Given the description of an element on the screen output the (x, y) to click on. 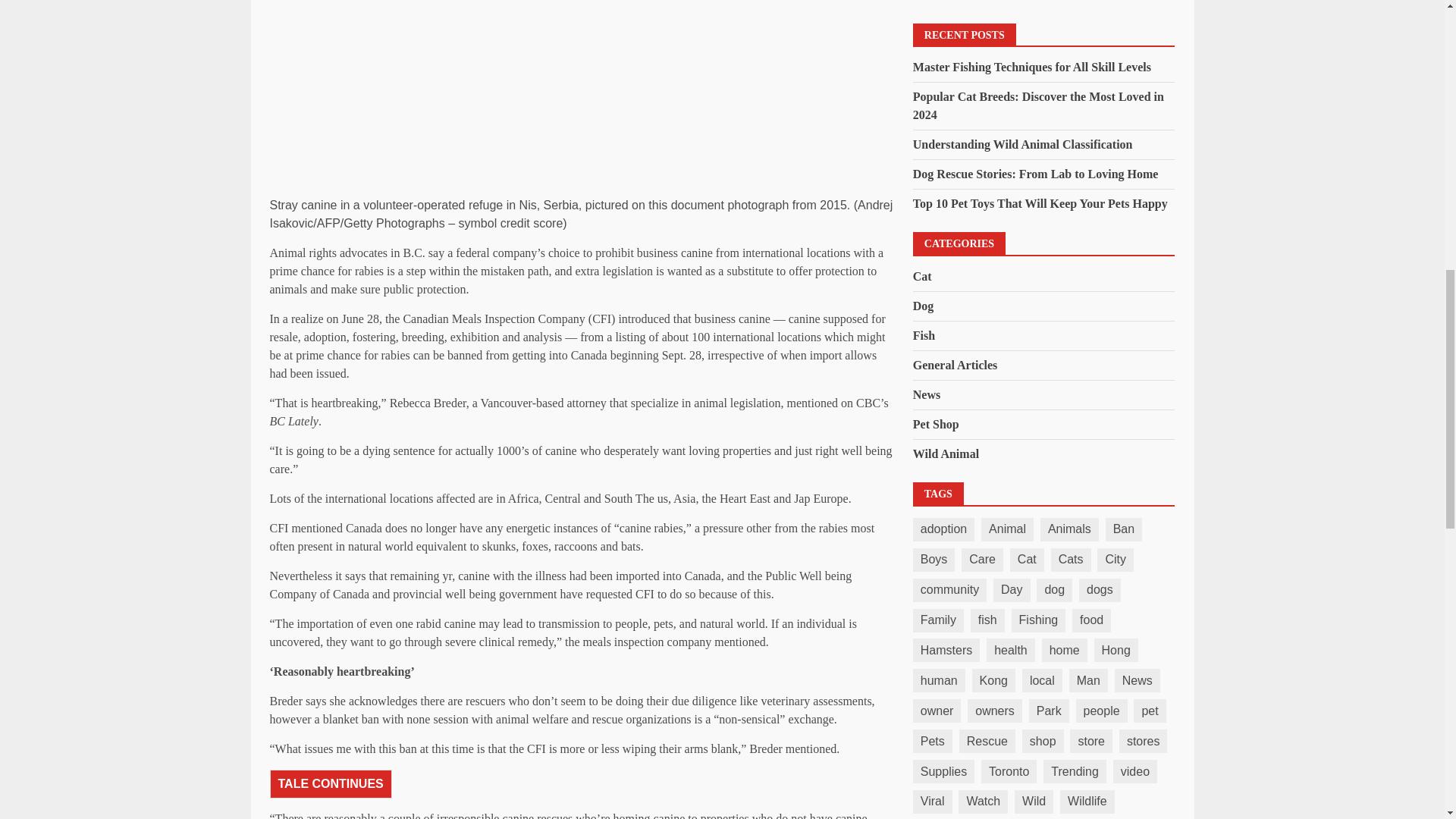
TALE CONTINUES (330, 783)
Seedbacklink (954, 385)
